Given the description of an element on the screen output the (x, y) to click on. 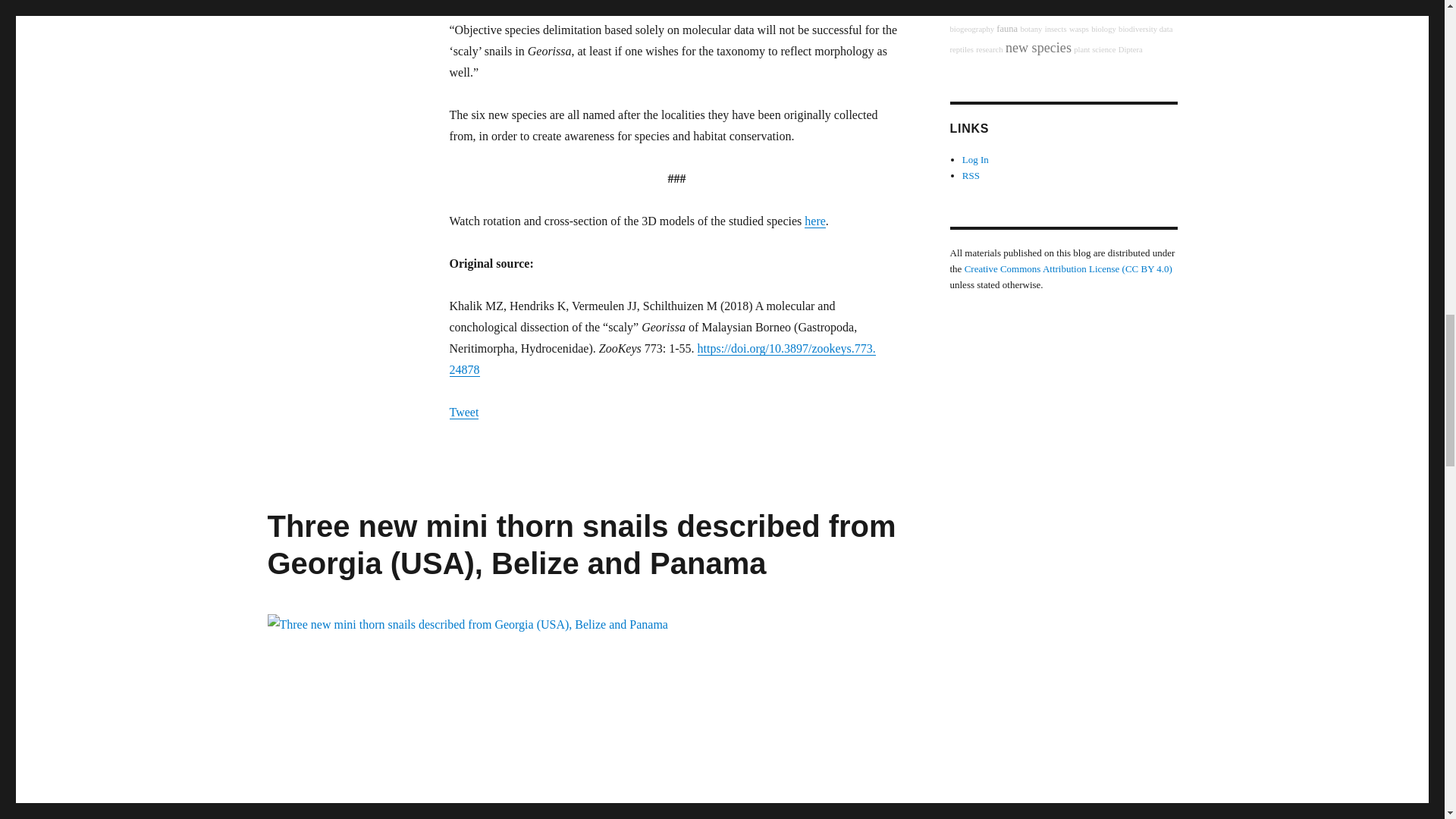
Tweet (463, 411)
here (815, 220)
